Given the description of an element on the screen output the (x, y) to click on. 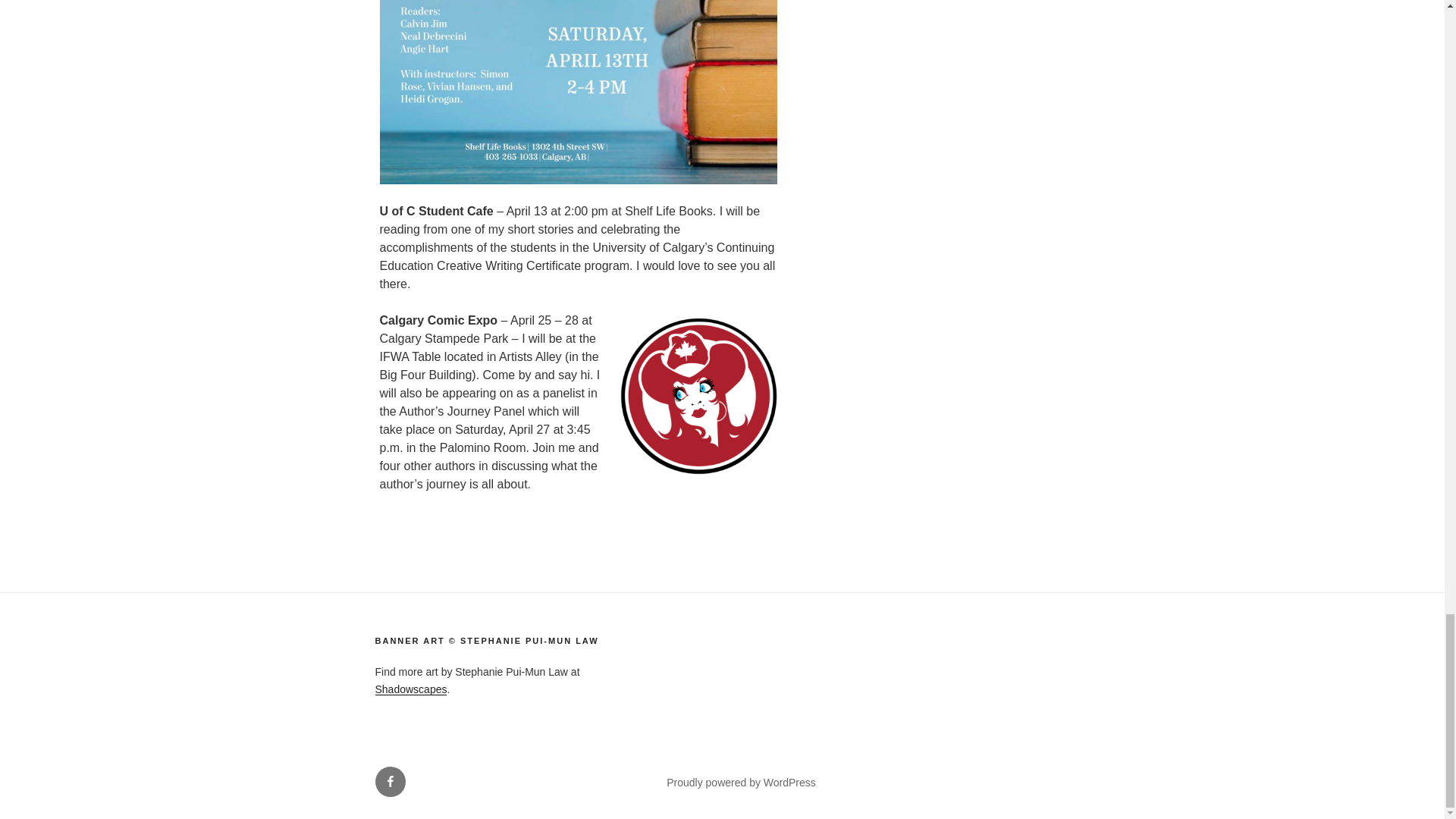
Shadowscapes (410, 689)
Facebook (389, 781)
Proudly powered by WordPress (740, 782)
